Given the description of an element on the screen output the (x, y) to click on. 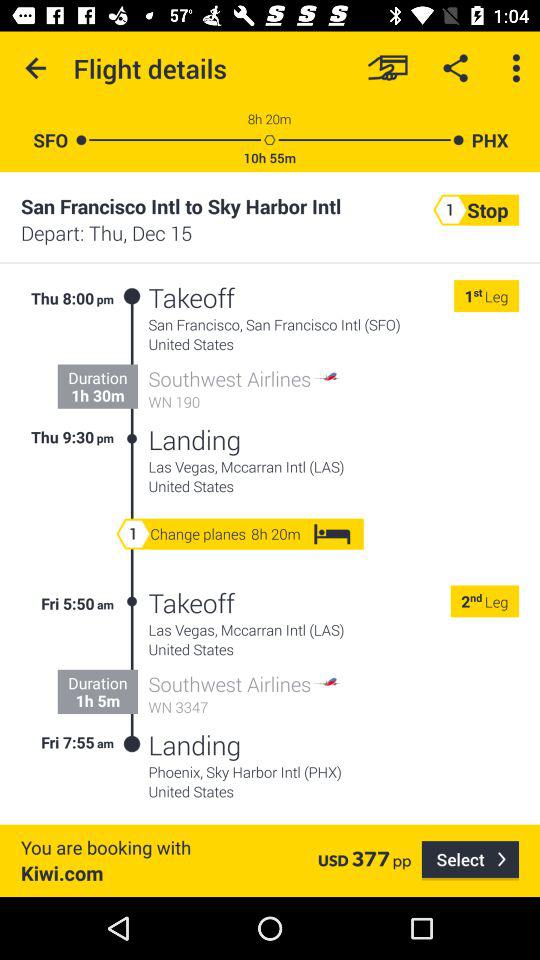
turn off item to the right of duration (131, 368)
